Given the description of an element on the screen output the (x, y) to click on. 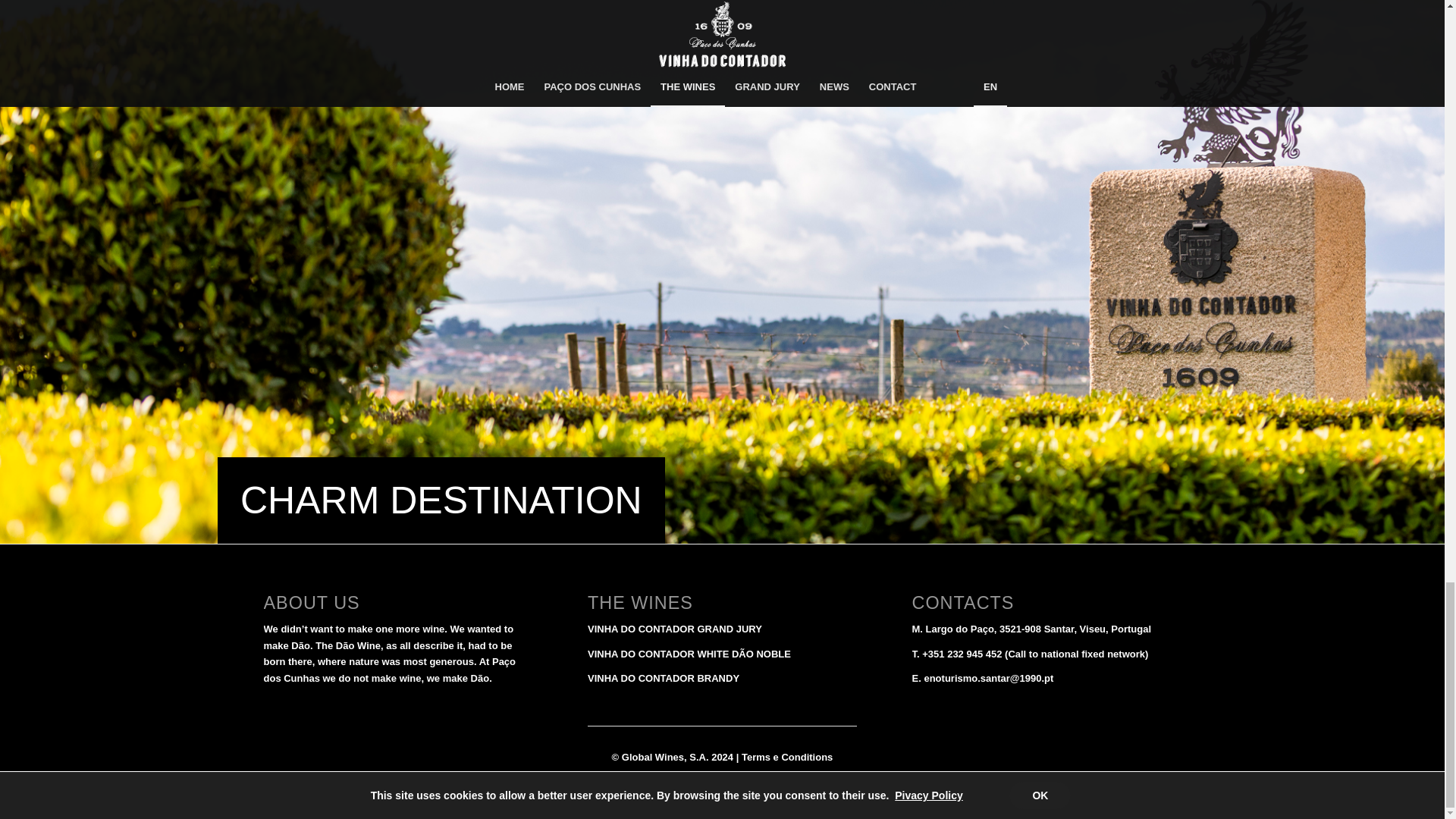
VINHA DO CONTADOR BRANDY (663, 677)
Terms e Conditions (786, 756)
VINHA DO CONTADOR GRAND JURY (674, 628)
